Given the description of an element on the screen output the (x, y) to click on. 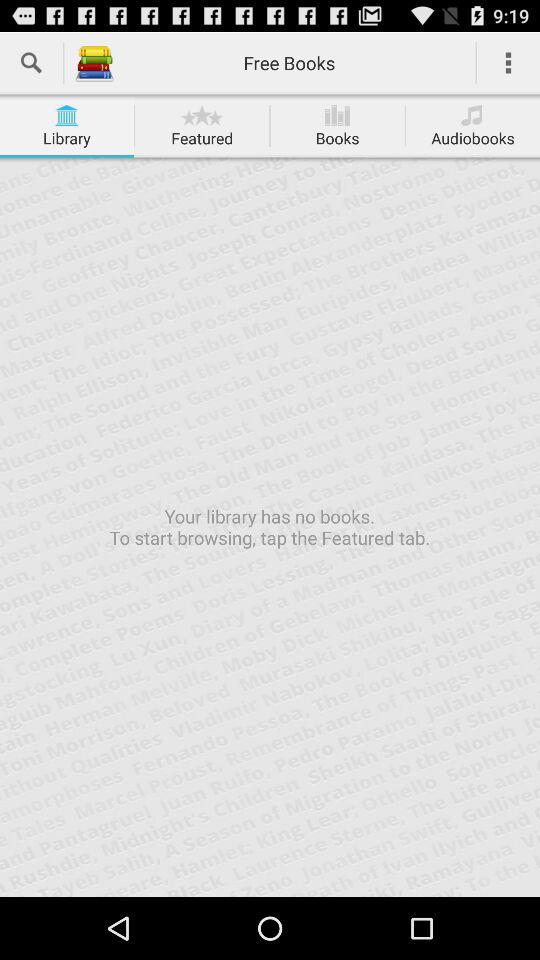
search (31, 62)
